Given the description of an element on the screen output the (x, y) to click on. 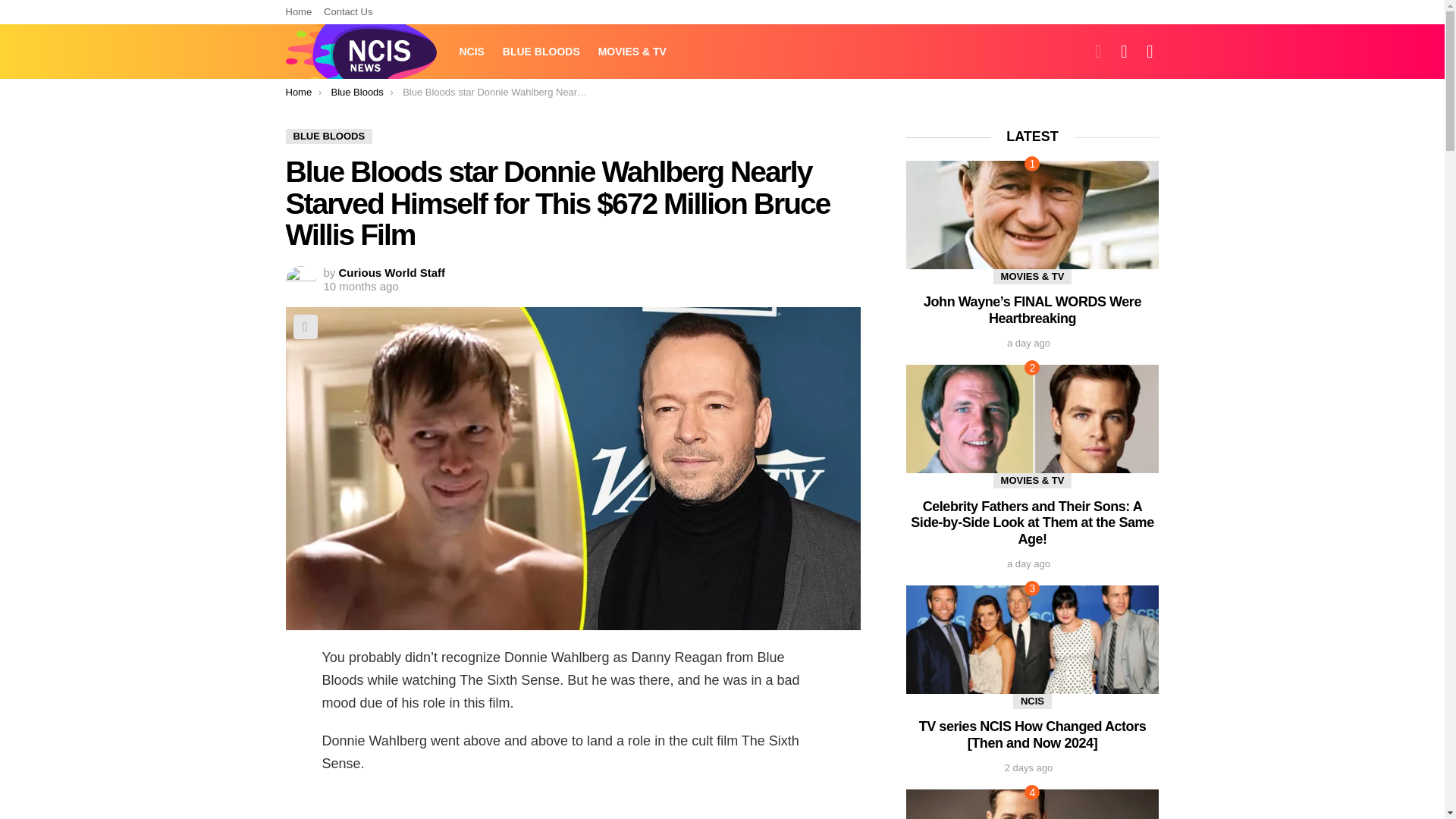
BLUE BLOODS (328, 136)
Curious World Staff (392, 272)
Home (298, 91)
Contact Us (347, 12)
NCIS (471, 51)
October 12, 2023, 2:32 pm (360, 286)
Blue Bloods (356, 91)
Advertisement (572, 804)
Share (304, 326)
Posts by Curious World Staff (392, 272)
